Given the description of an element on the screen output the (x, y) to click on. 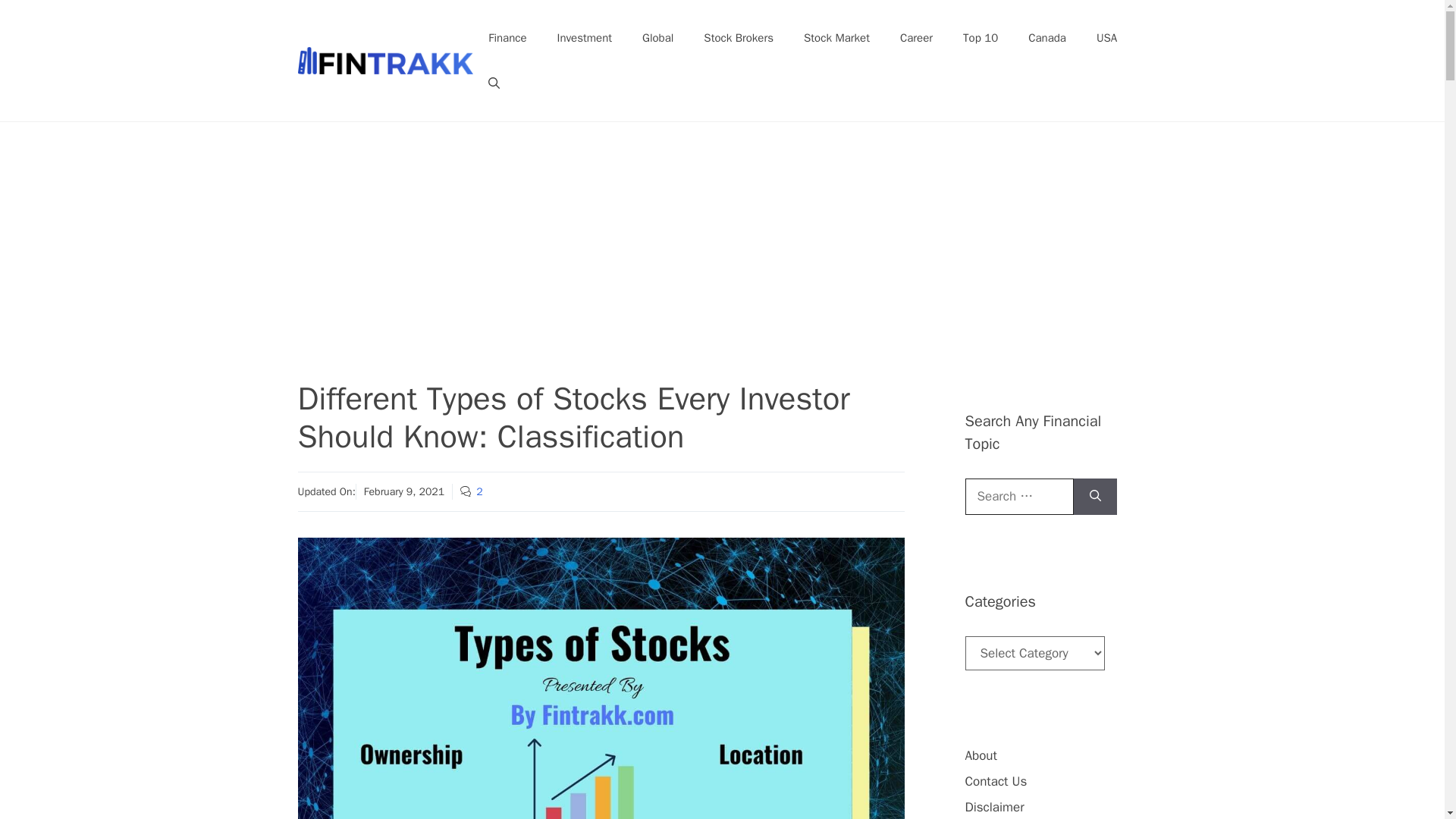
Stock Market (837, 37)
Canada (1047, 37)
Investment (584, 37)
Fintrakk (385, 60)
Fintrakk (385, 59)
Career (916, 37)
Stock Brokers (738, 37)
Finance (507, 37)
Global (657, 37)
